Given the description of an element on the screen output the (x, y) to click on. 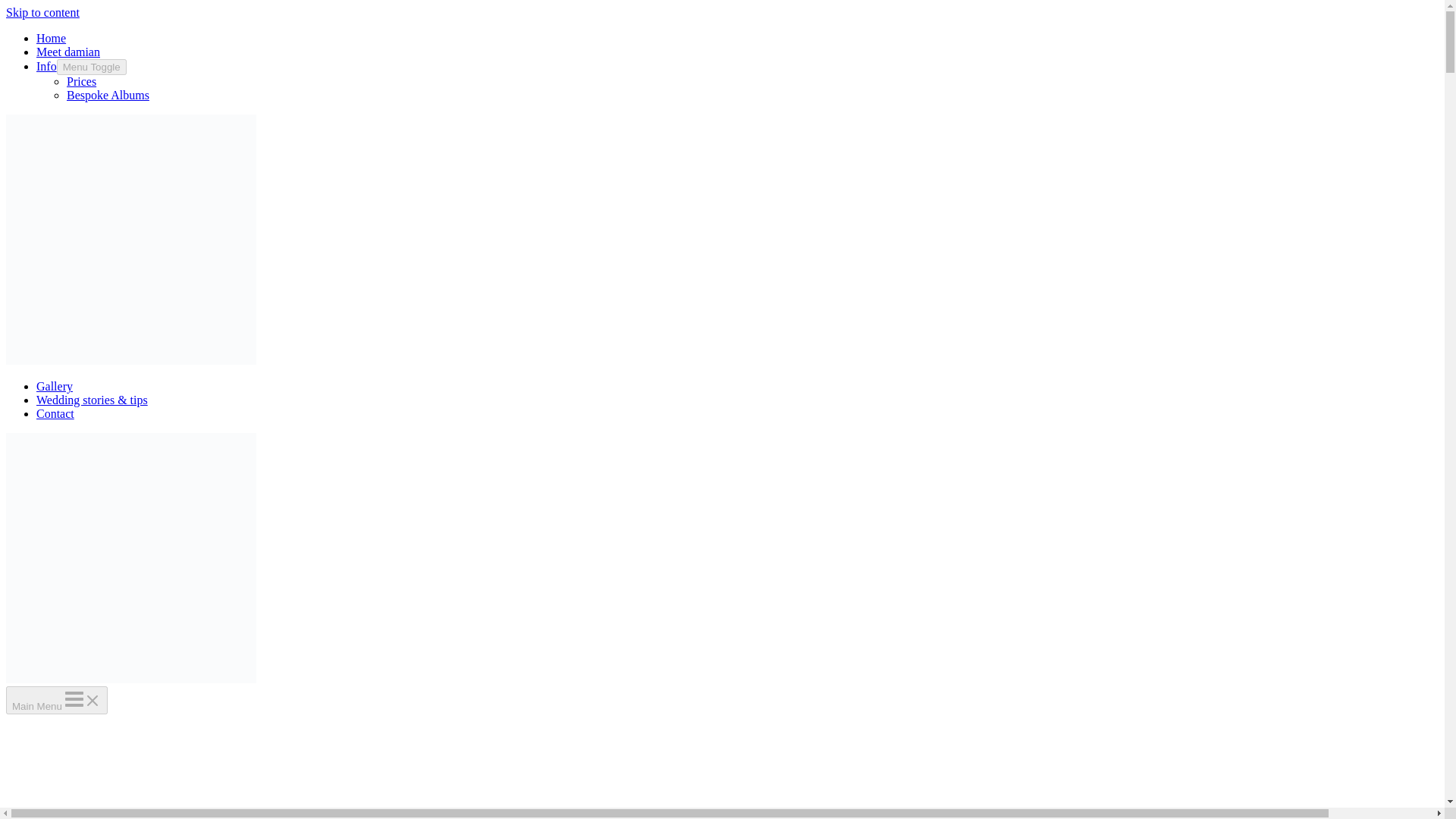
Skip to content (42, 11)
Contact (55, 413)
Bespoke Albums (107, 94)
Main Menu (56, 700)
Info (46, 65)
Menu Toggle (91, 66)
Gallery (54, 386)
Meet damian (68, 51)
Prices (81, 81)
Home (50, 38)
Skip to content (42, 11)
